Given the description of an element on the screen output the (x, y) to click on. 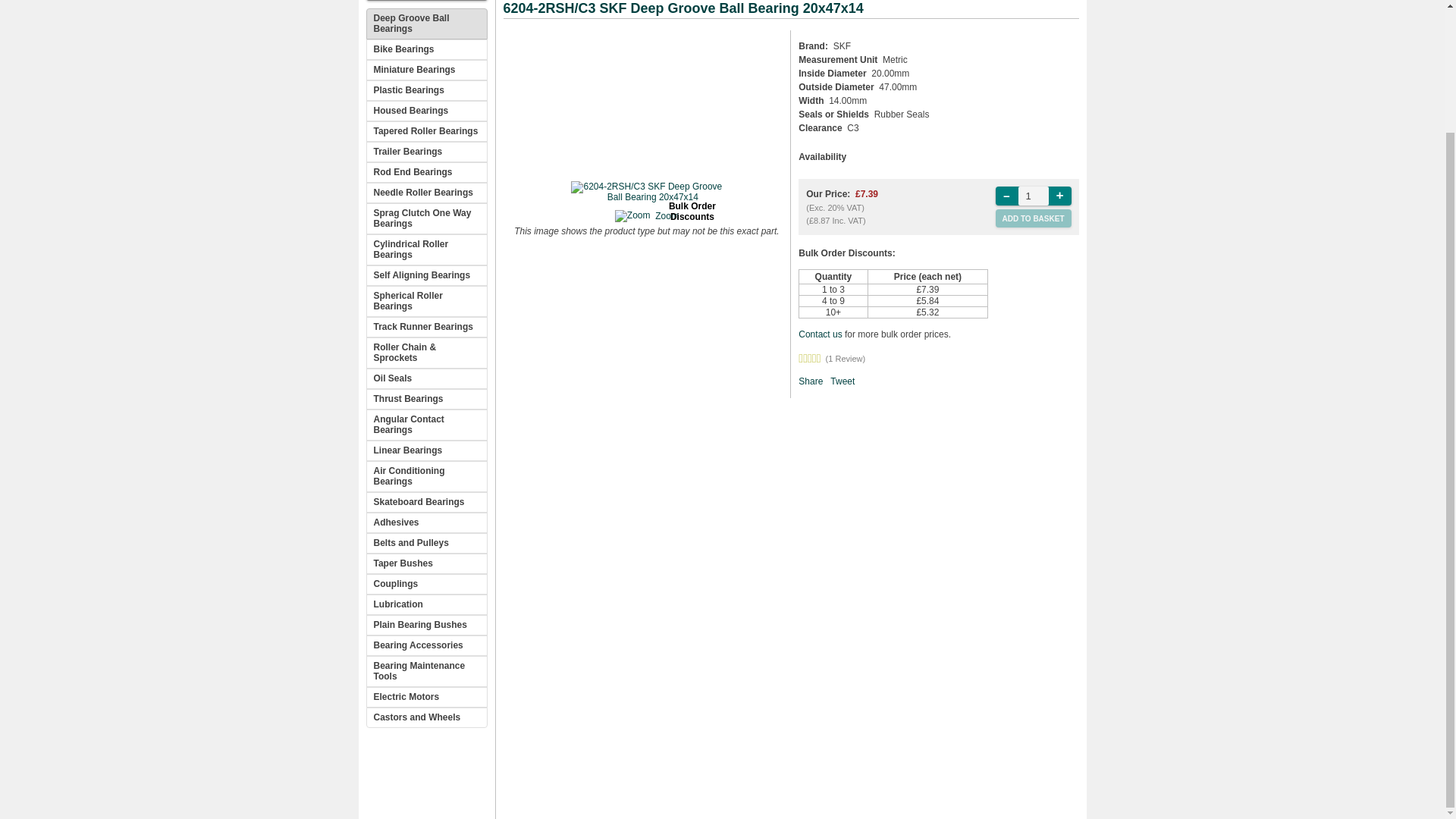
Belts and Pulleys (425, 543)
Couplings (425, 584)
Castors and Wheels (425, 717)
Share (809, 380)
Thrust Bearings (425, 399)
Adhesives (425, 522)
Linear Bearings (425, 450)
Cylindrical Roller Bearings (425, 249)
Tapered Roller Bearings (425, 131)
Oil Seals (425, 378)
